Given the description of an element on the screen output the (x, y) to click on. 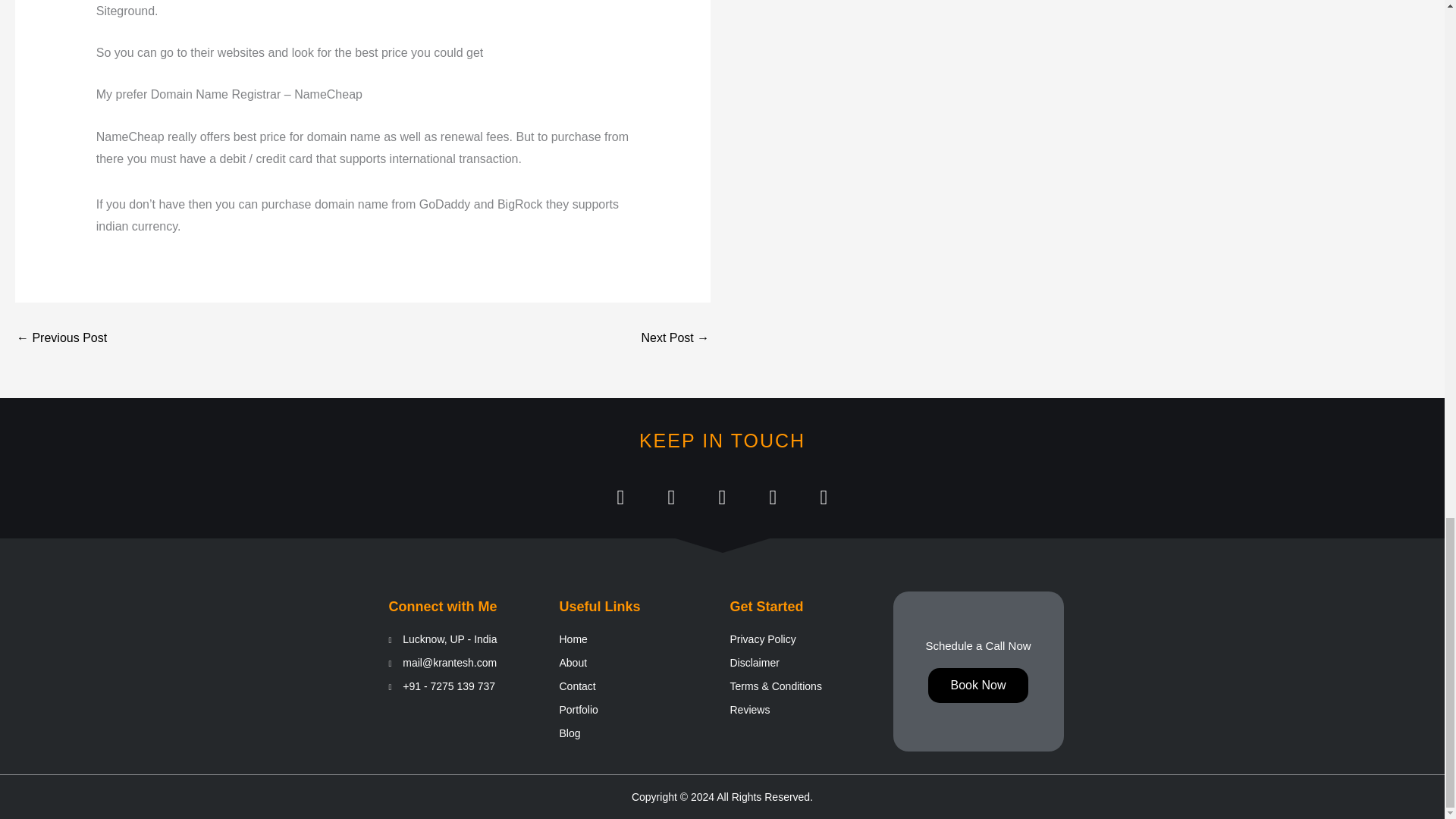
How to purchase Hosting from SiteGround? (674, 337)
Critical Skills to Learn in 2020 (61, 337)
